Given the description of an element on the screen output the (x, y) to click on. 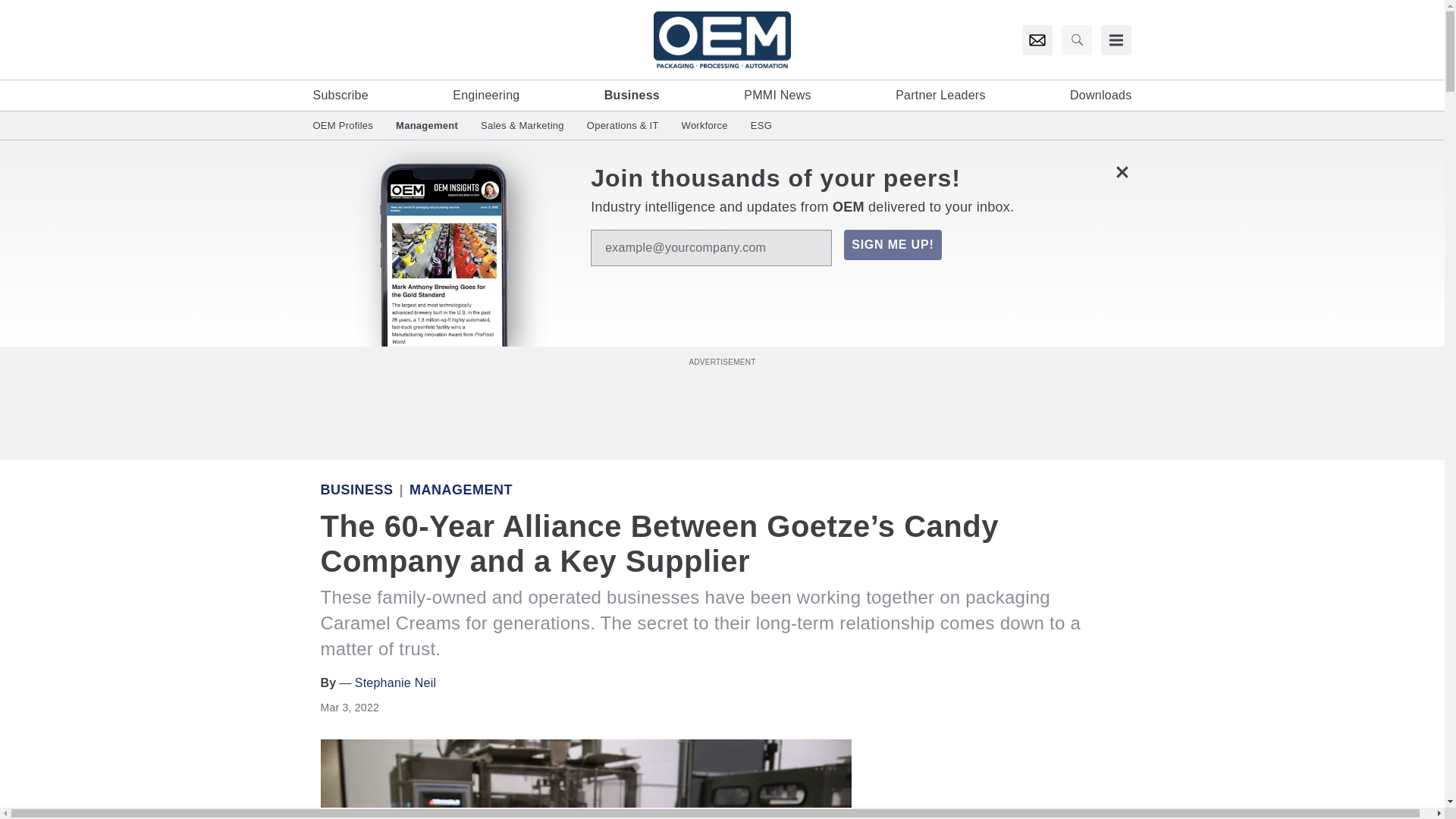
Management (460, 489)
Workforce (704, 125)
Engineering (485, 95)
Downloads (1100, 95)
Partner Leaders (940, 95)
Business (631, 95)
Business (356, 489)
SIGN ME UP! (892, 245)
Management (426, 125)
PMMI News (777, 95)
OEM Profiles (348, 125)
ESG (755, 125)
Subscribe (340, 95)
